Given the description of an element on the screen output the (x, y) to click on. 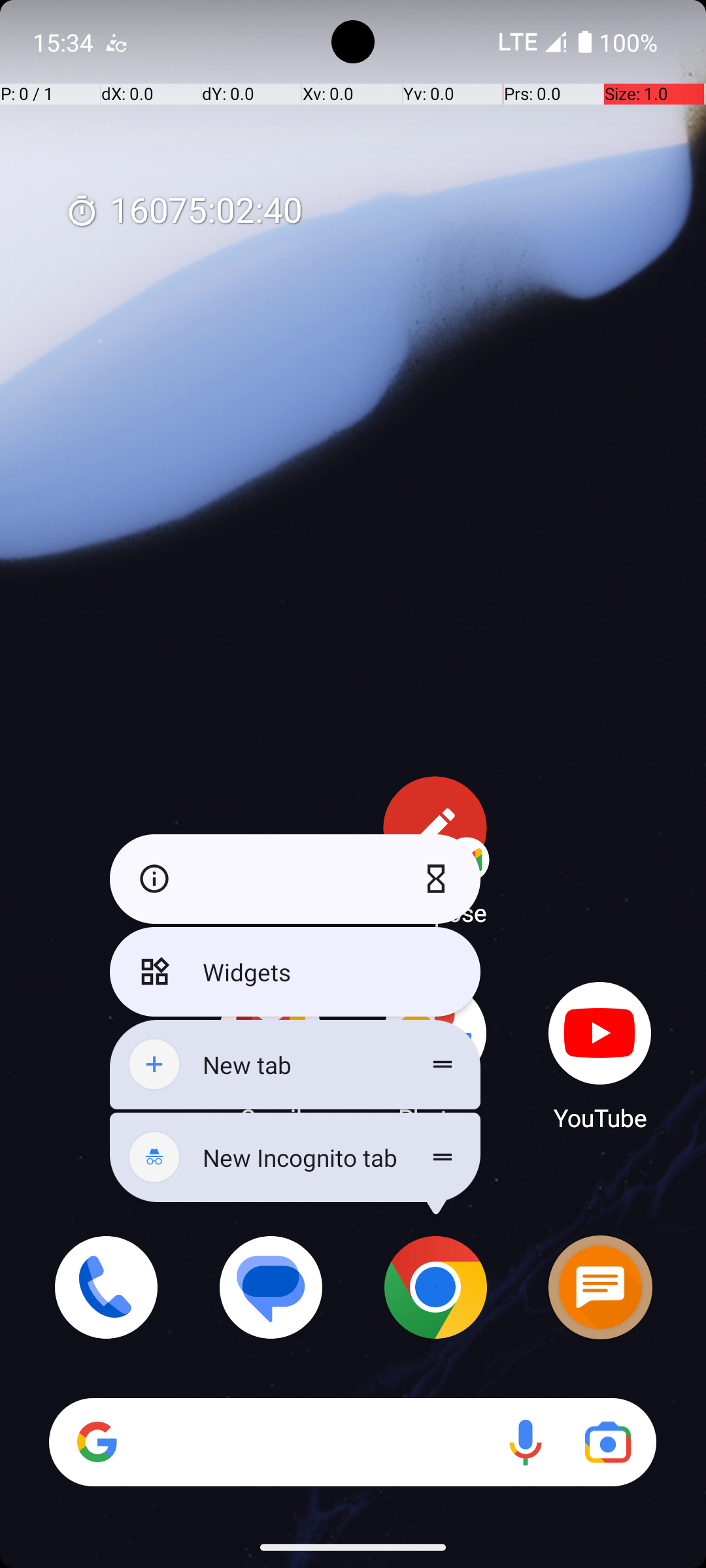
Pause app Element type: android.widget.ImageView (439, 878)
New tab Element type: android.widget.TextView (294, 1064)
New Incognito tab Element type: android.widget.TextView (294, 1157)
Widgets Element type: android.widget.TextView (294, 971)
VLC notification: Scanning for media files Element type: android.widget.ImageView (115, 41)
